Given the description of an element on the screen output the (x, y) to click on. 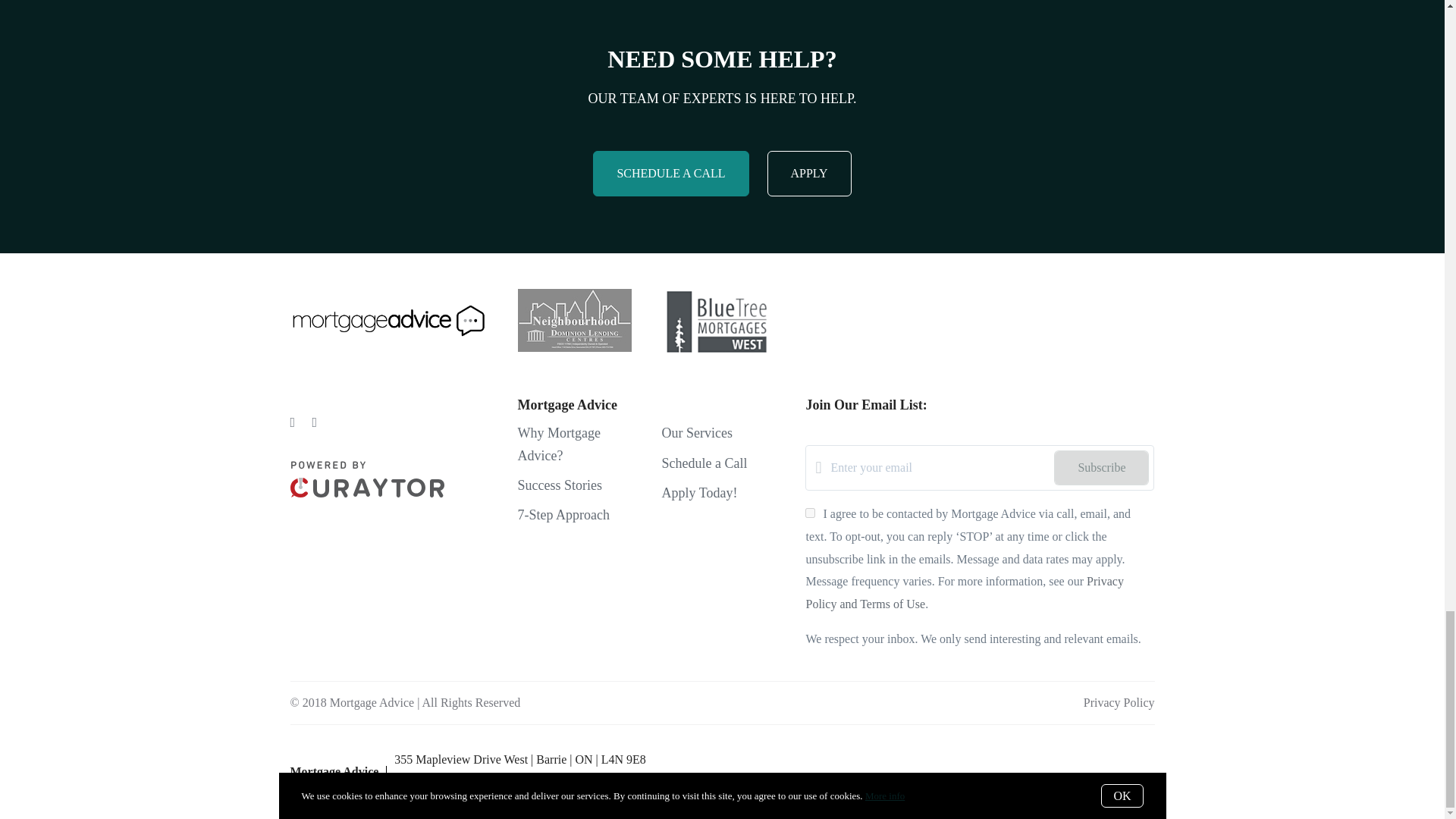
on (810, 512)
SCHEDULE A CALL (670, 173)
APPLY (809, 173)
curaytor-horizontal (366, 479)
